Given the description of an element on the screen output the (x, y) to click on. 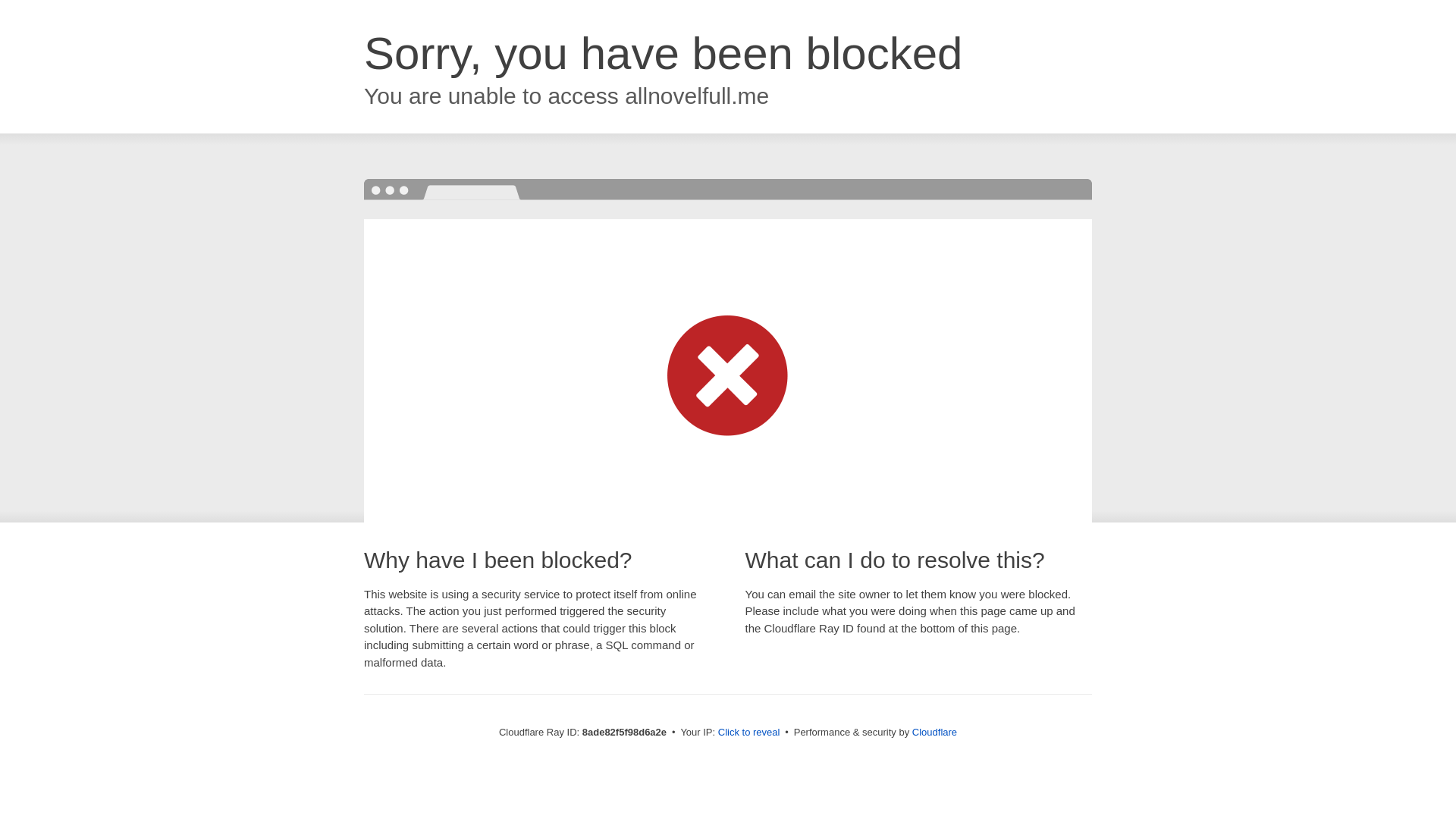
Cloudflare (934, 731)
Click to reveal (748, 732)
